Given the description of an element on the screen output the (x, y) to click on. 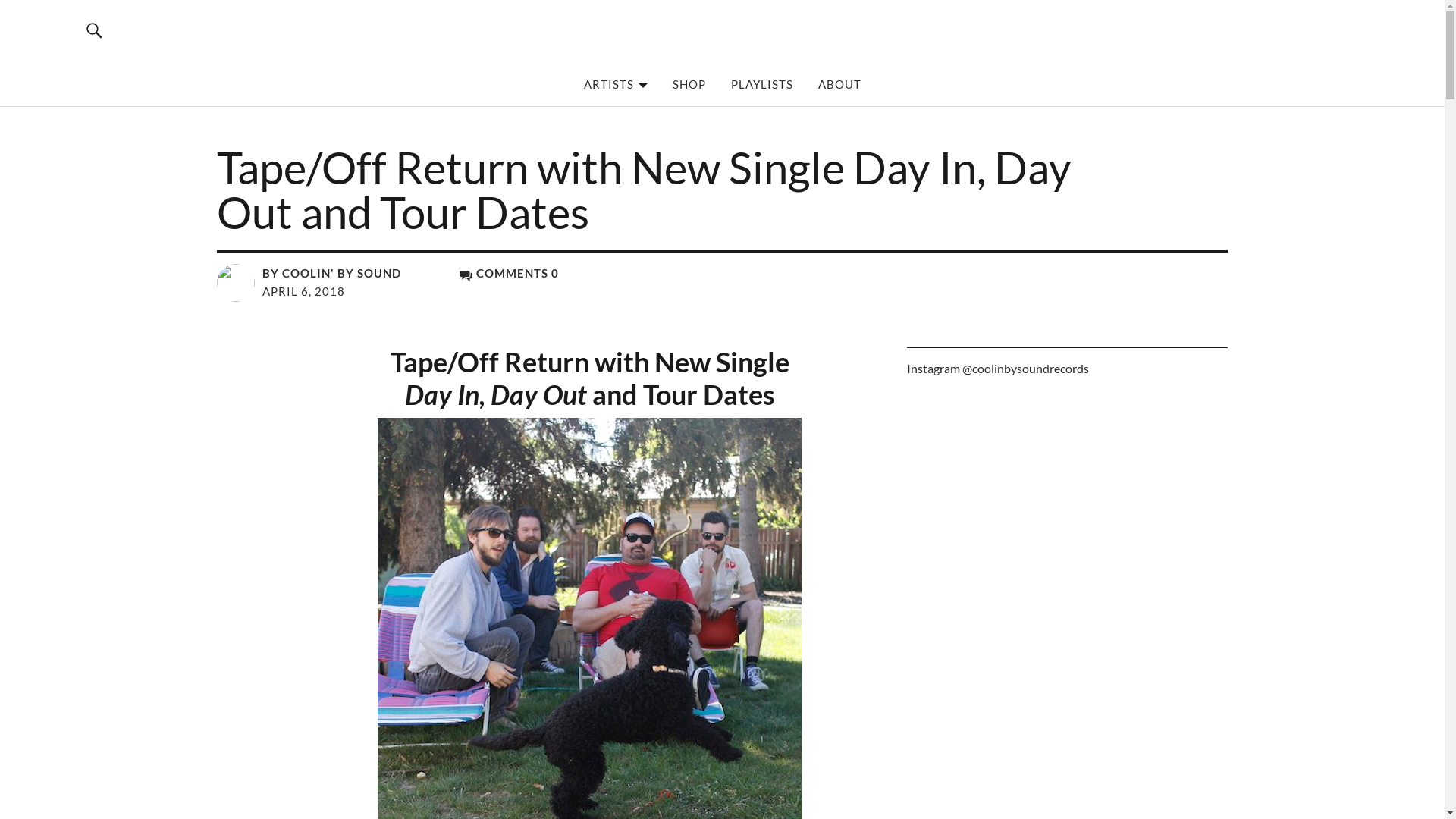
ABOUT Element type: text (838, 84)
PLAYLISTS Element type: text (762, 84)
APRIL 6, 2018 Element type: text (303, 291)
COOLIN' BY SOUND Element type: text (341, 272)
COOLIN' BY SOUND Element type: text (302, 83)
SHOP Element type: text (688, 84)
COMMENTS 0 Element type: text (508, 272)
ARTISTS Element type: text (615, 84)
